Given the description of an element on the screen output the (x, y) to click on. 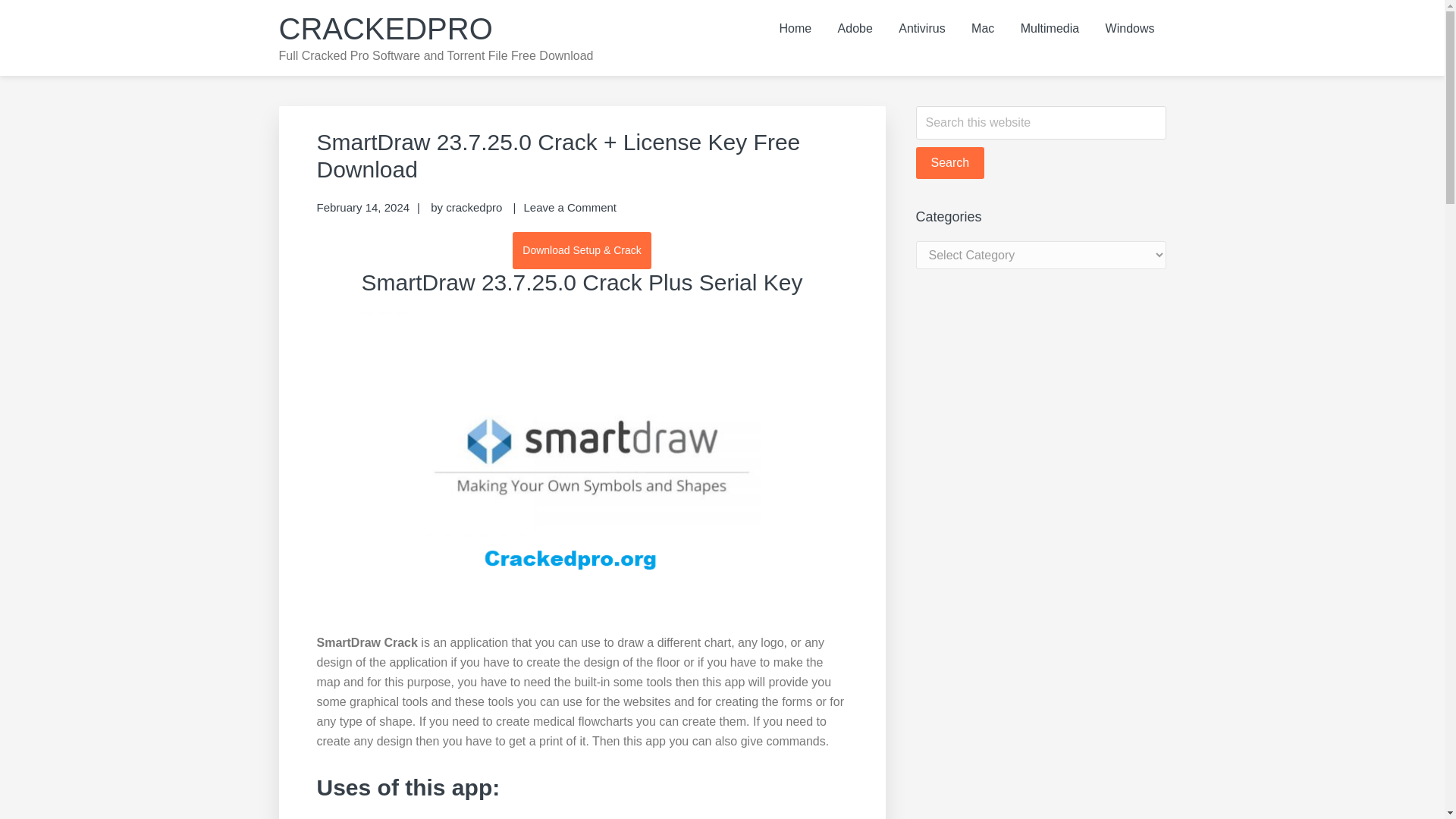
Windows (1130, 28)
Home (794, 28)
Search (950, 163)
crackedpro (473, 206)
Antivirus (921, 28)
Search (950, 163)
Leave a Comment (568, 206)
Mac (982, 28)
Adobe (855, 28)
CRACKEDPRO (386, 28)
Multimedia (1049, 28)
Search (950, 163)
